Given the description of an element on the screen output the (x, y) to click on. 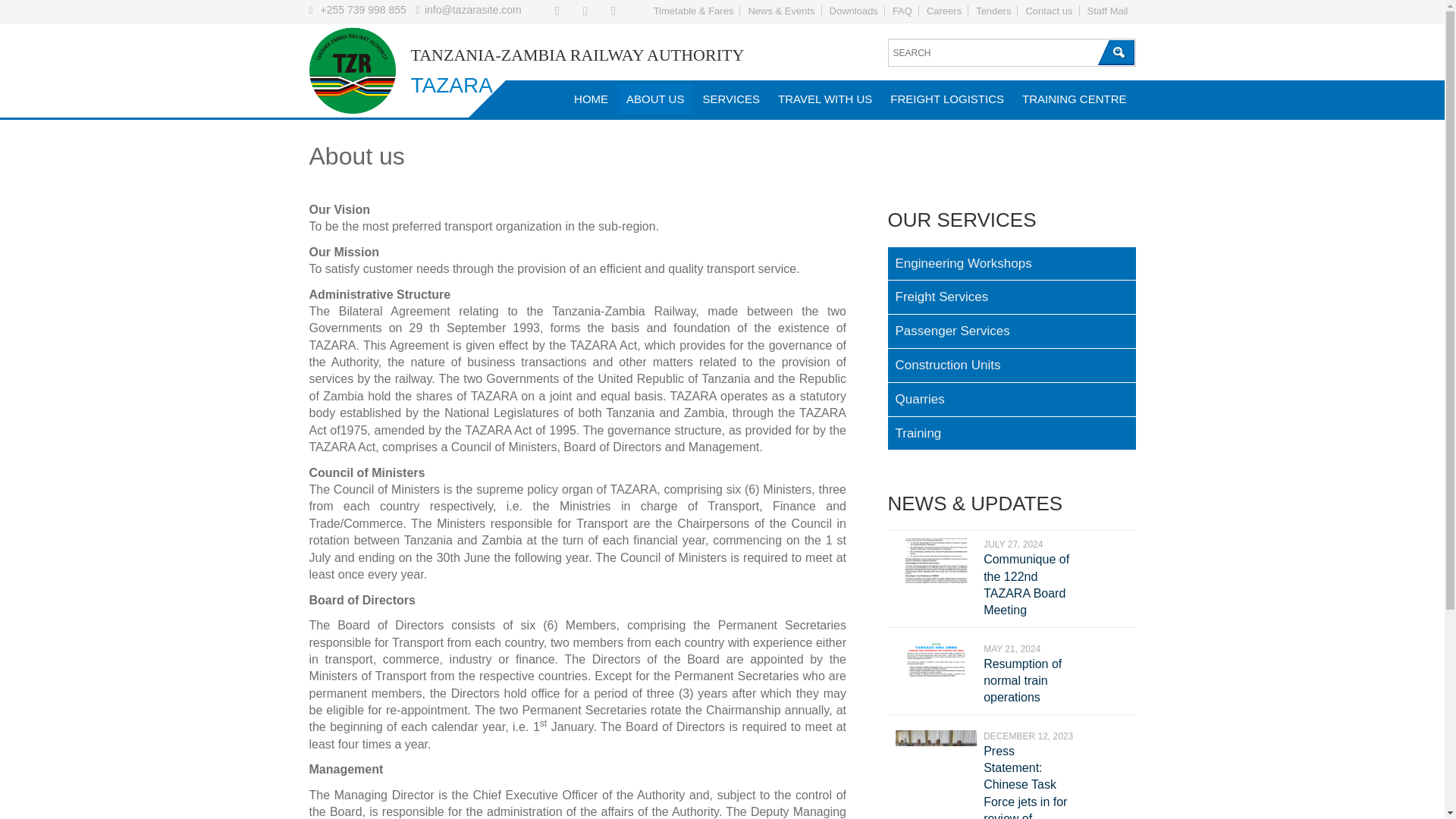
SERVICES (730, 98)
ABOUT US (655, 98)
TRAVEL WITH US (824, 98)
Home (352, 73)
Contact us (1048, 10)
FAQ (902, 10)
Careers (944, 10)
HOME (590, 98)
FREIGHT LOGISTICS (946, 98)
Downloads (854, 10)
Staff Mail (1107, 10)
TRAINING CENTRE (1074, 98)
Enter the terms you wish to search for. (1010, 52)
Tenders (993, 10)
